Given the description of an element on the screen output the (x, y) to click on. 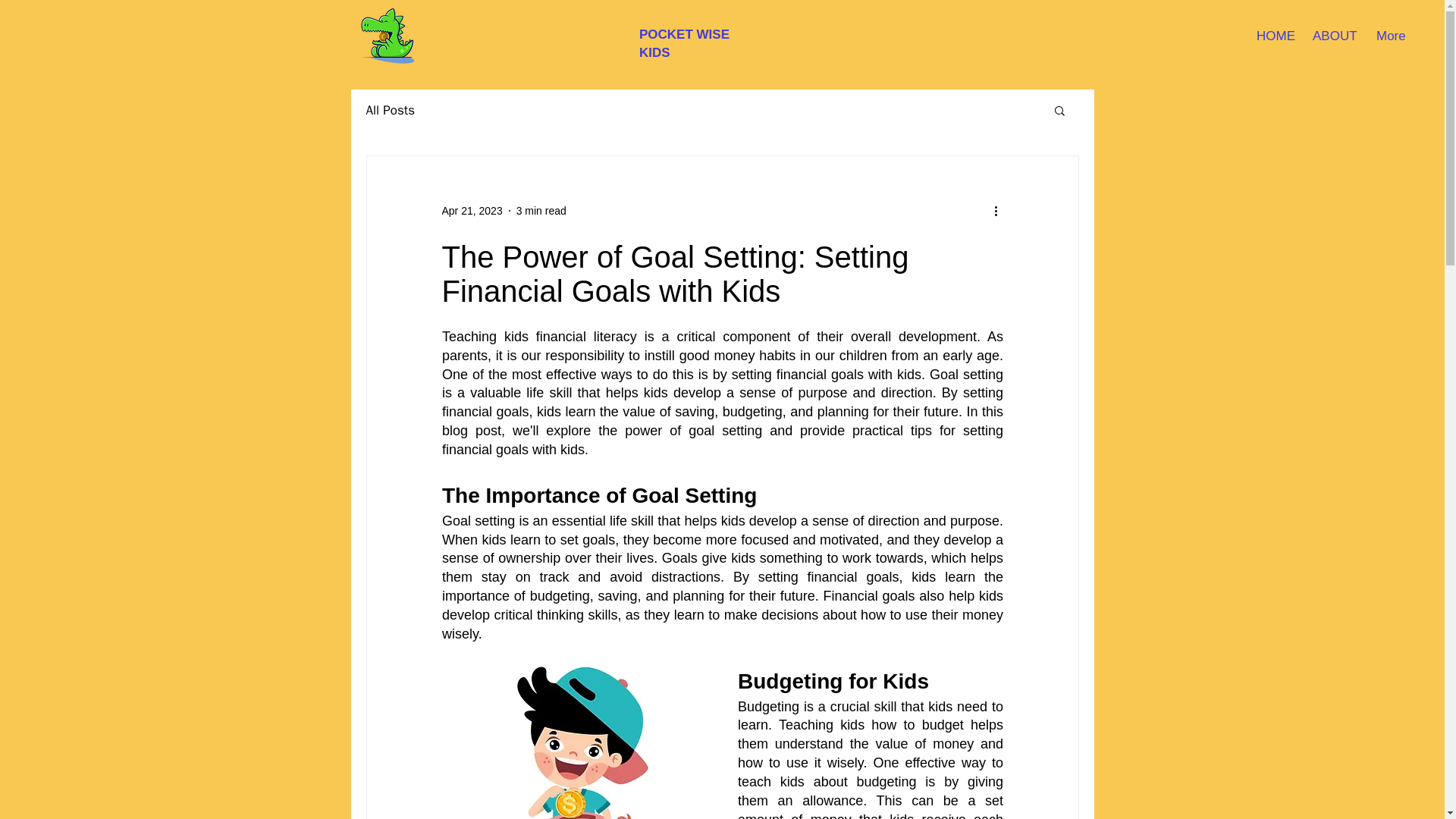
ABOUT (1333, 36)
Apr 21, 2023 (471, 210)
All Posts (389, 109)
HOME (1272, 36)
3 min read (541, 210)
